Given the description of an element on the screen output the (x, y) to click on. 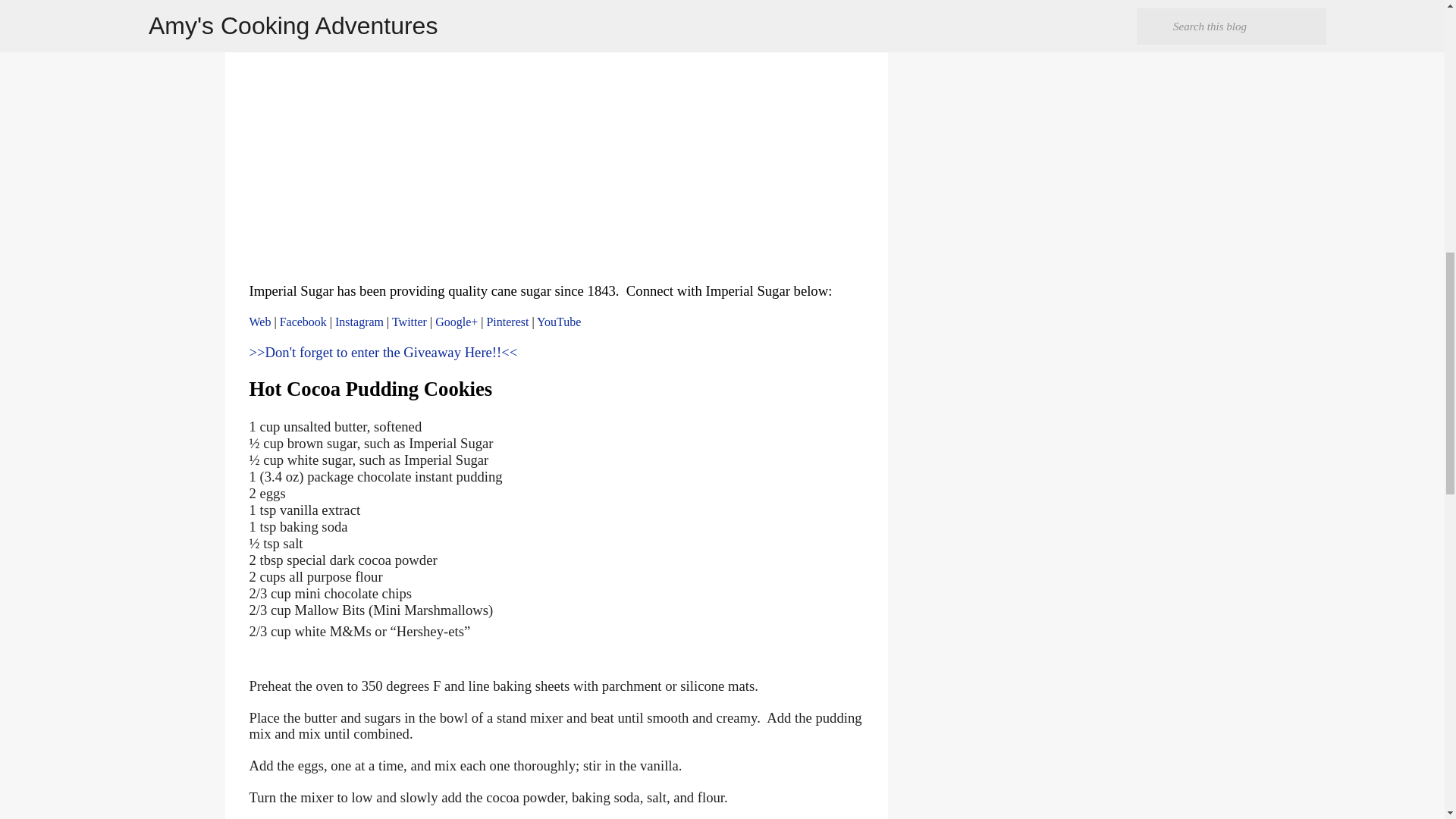
Web (259, 321)
Twitter (408, 321)
YouTube (558, 321)
Instagram (359, 321)
Pinterest (507, 321)
Facebook (302, 321)
